Given the description of an element on the screen output the (x, y) to click on. 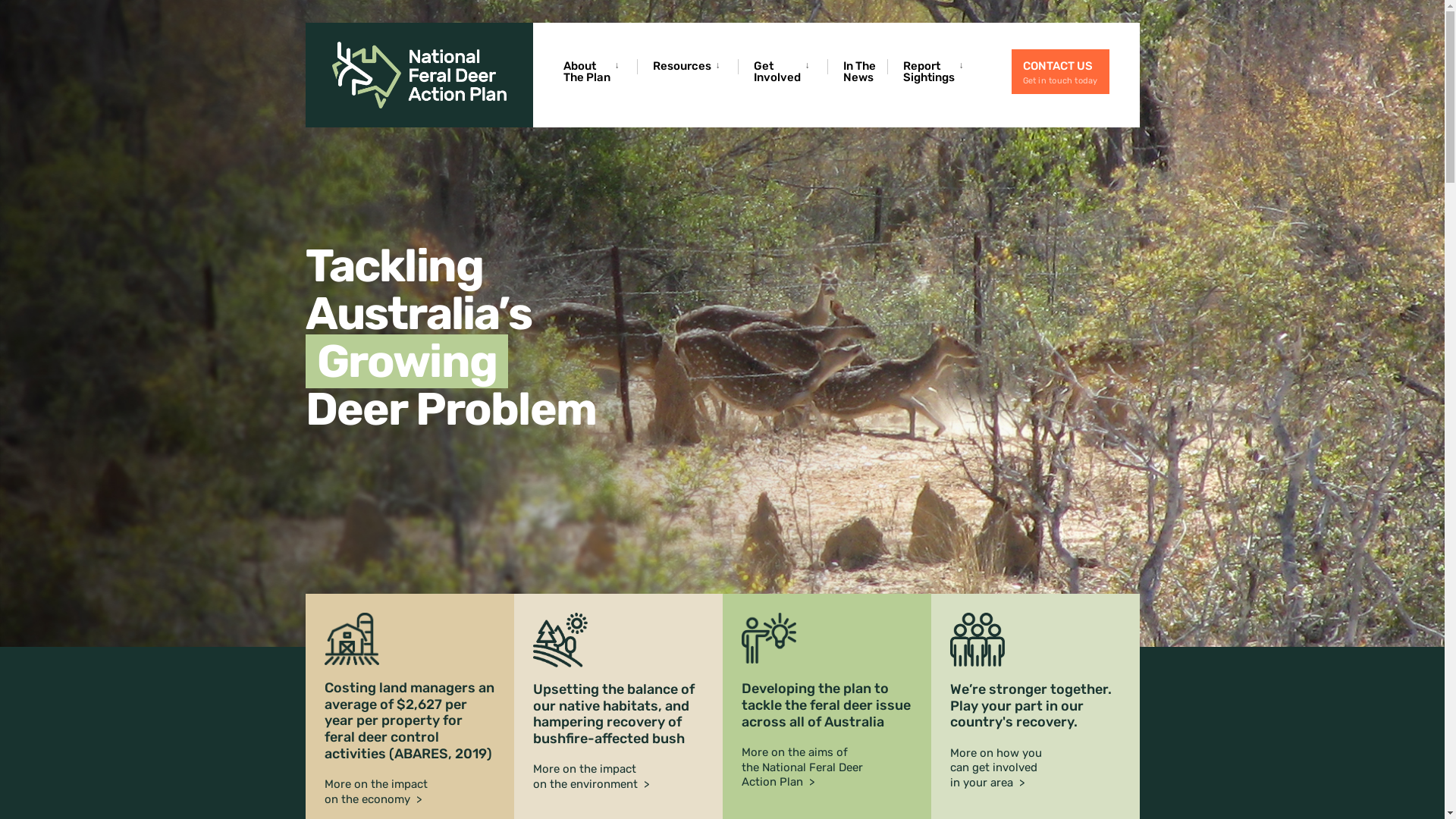
CONTACT US
Get in touch today Element type: text (1060, 71)
More on the impact
on the economy  > Element type: text (375, 791)
Resources Element type: text (688, 65)
Get
Involved Element type: text (784, 71)
Report
Sightings Element type: text (935, 71)
In The
News Element type: text (859, 71)
More on the impact
on the environment  > Element type: text (590, 776)
More on how you
can get involved
in your area  > Element type: text (995, 767)
About
The Plan Element type: text (593, 71)
More on the aims of
the National Feral Deer
Action Plan  > Element type: text (801, 766)
Home Element type: hover (722, 338)
